Given the description of an element on the screen output the (x, y) to click on. 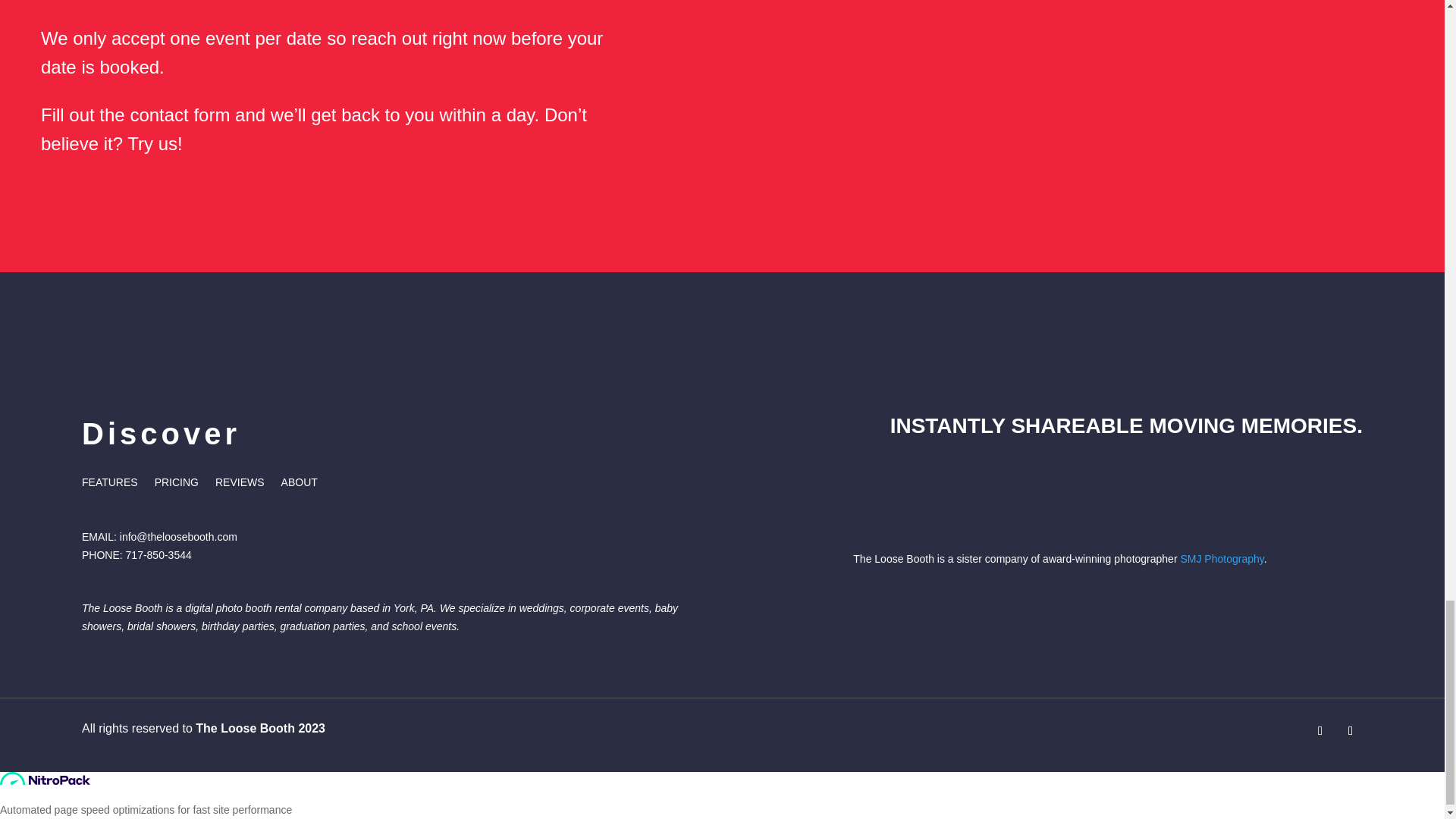
ABOUT (299, 484)
Follow on Facebook (1319, 730)
REVIEWS (239, 484)
PRICING (176, 484)
SMJ Photography (1221, 558)
FEATURES (109, 484)
Follow on Instagram (1350, 730)
